Given the description of an element on the screen output the (x, y) to click on. 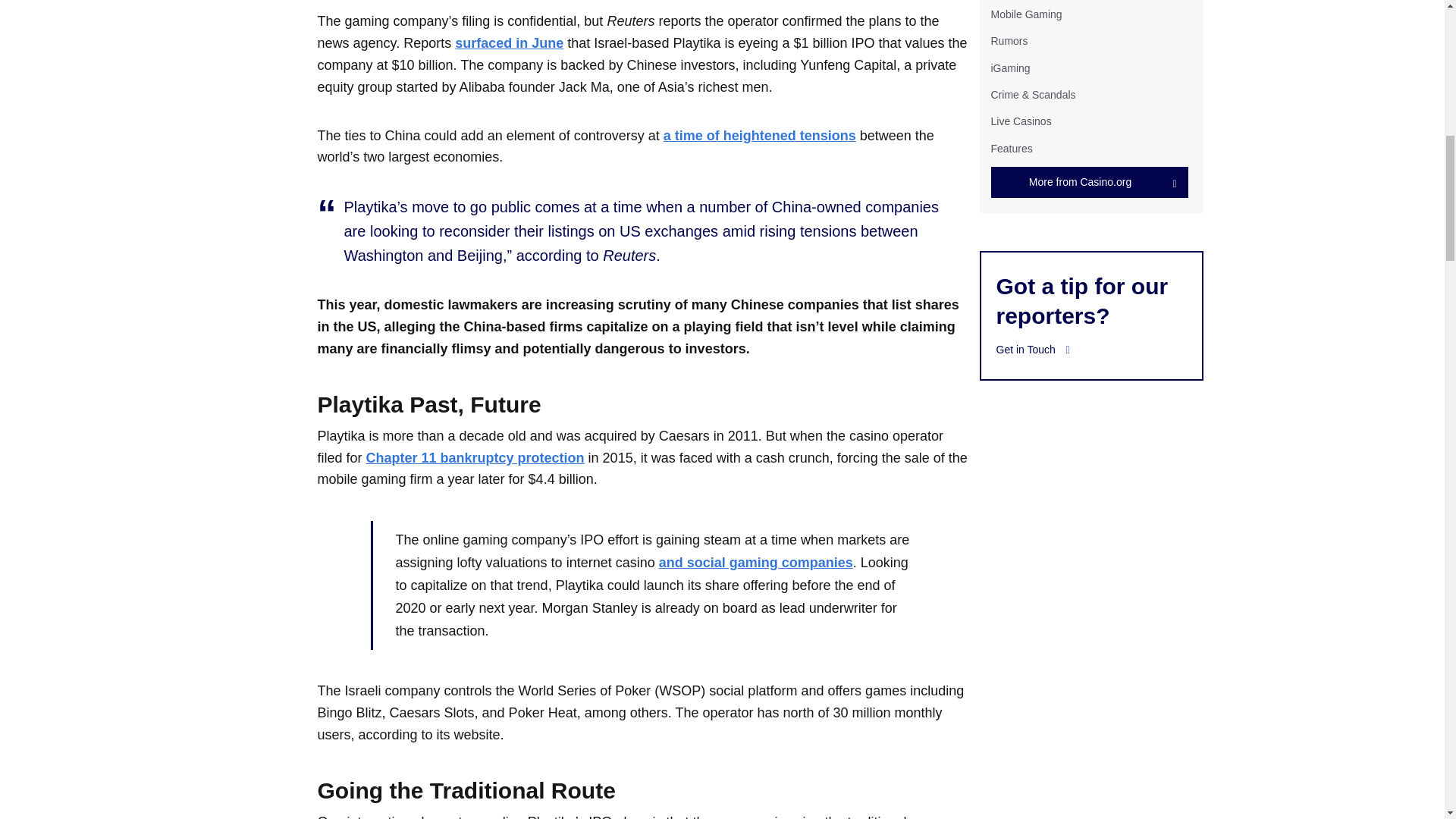
a time of heightened tensions (759, 135)
iGaming (1009, 68)
surfaced in June (508, 43)
Rumors (1008, 40)
Live Casinos (1020, 121)
Mobile Gaming (1025, 14)
Chapter 11 bankruptcy protection (475, 458)
Features (1011, 148)
and social gaming companies (756, 562)
